Given the description of an element on the screen output the (x, y) to click on. 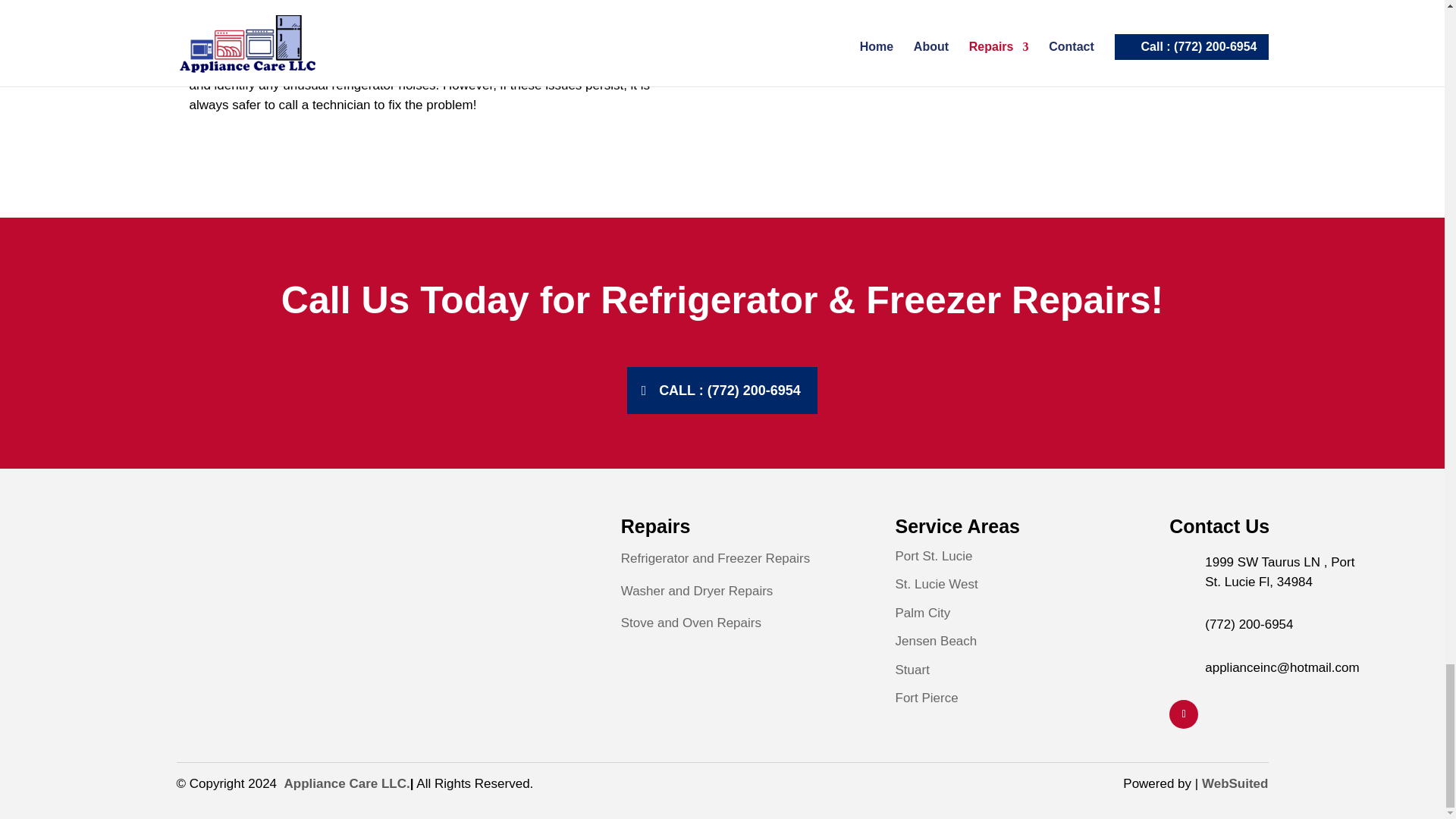
Follow on Facebook (1183, 714)
Appliance Care LLC. (346, 783)
Refrigerator and Freezer Repairs  (717, 558)
WebSuited (1235, 783)
Washer and Dryer Repairs (697, 590)
homeadvisor-badge (132, 566)
Stove and Oven Repairs  (693, 622)
